Given the description of an element on the screen output the (x, y) to click on. 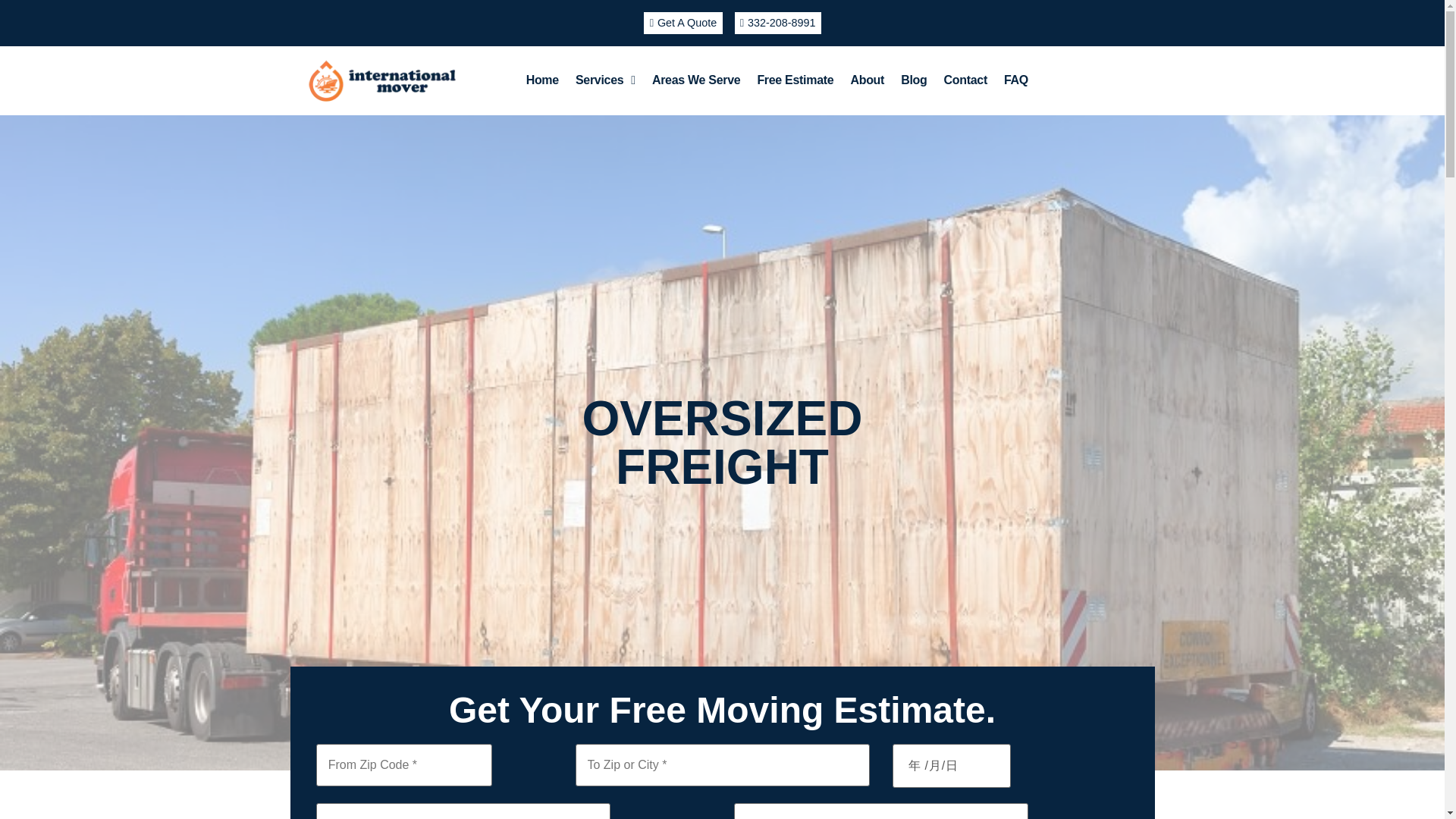
FAQ (1015, 79)
Contact (964, 79)
Services (605, 79)
Free Estimate (794, 79)
Areas We Serve (695, 79)
About (866, 79)
332-208-8991 (777, 23)
Blog (913, 79)
Home (542, 79)
Get A Quote (682, 23)
